Given the description of an element on the screen output the (x, y) to click on. 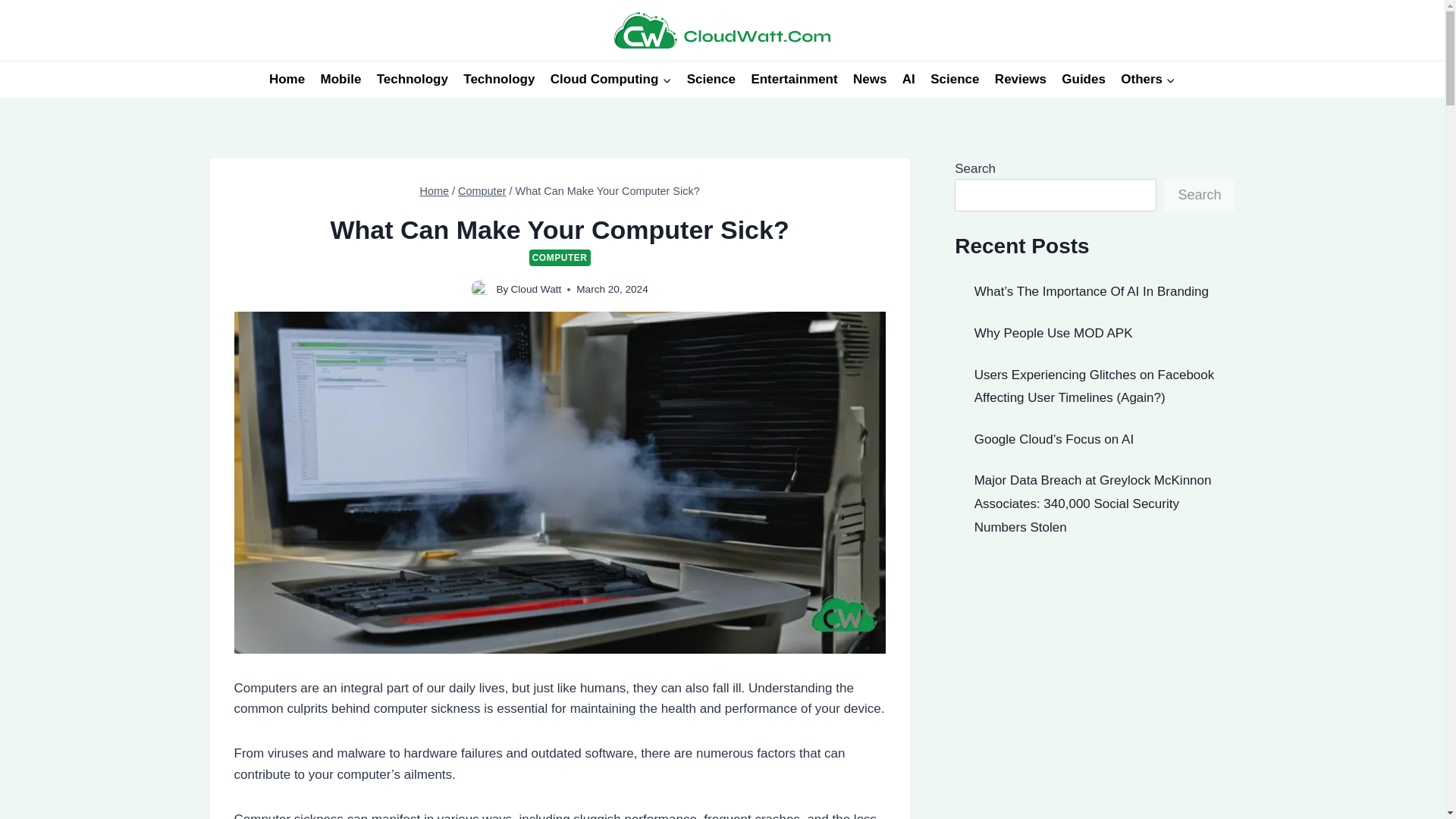
News (870, 79)
Others (1147, 79)
Cloud Computing (611, 79)
Mobile (340, 79)
Home (434, 191)
Guides (1083, 79)
Technology (413, 79)
Science (955, 79)
Cloud Watt (536, 288)
Technology (499, 79)
